Given the description of an element on the screen output the (x, y) to click on. 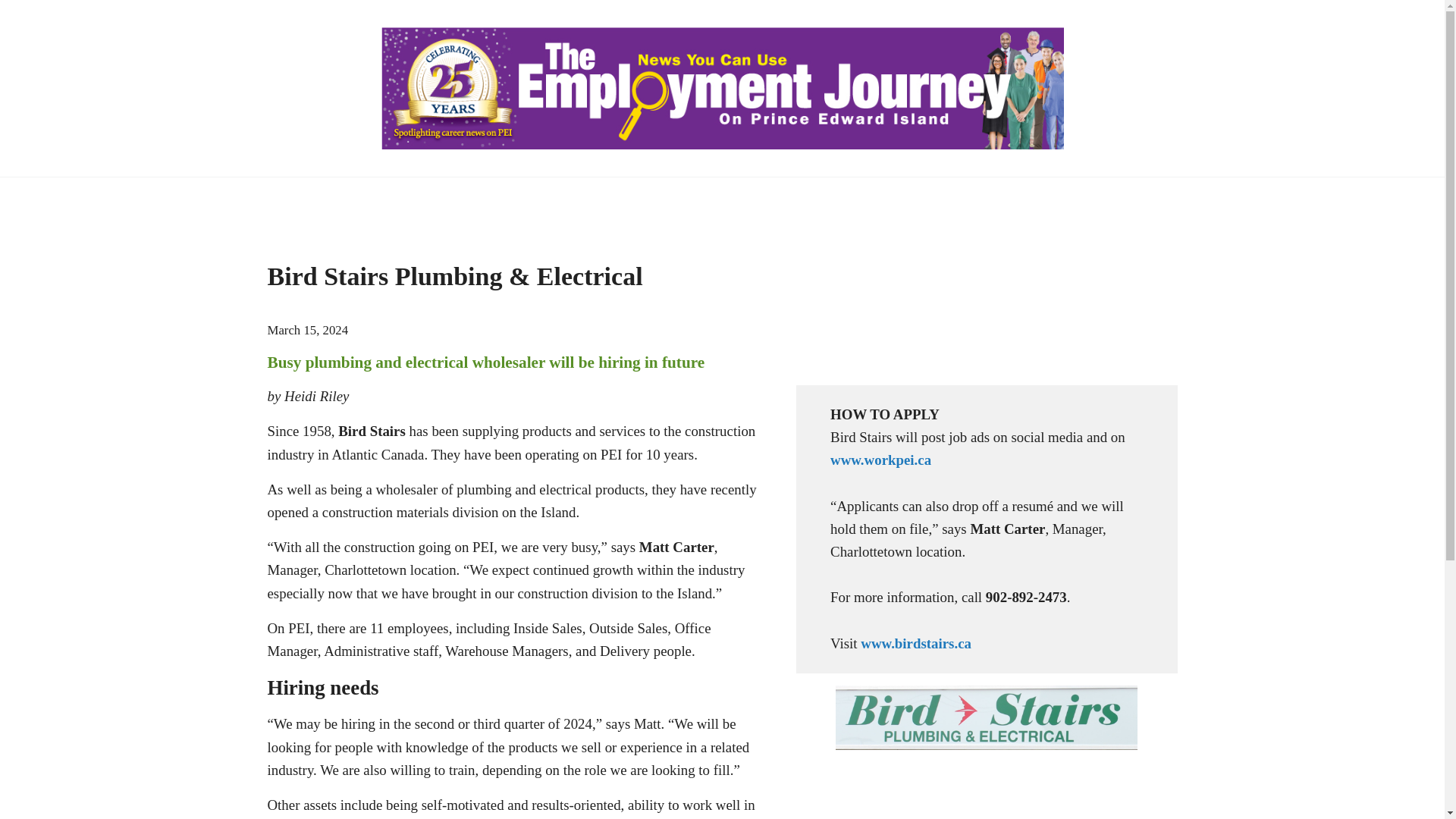
SELF-EMPLOYMENT (820, 198)
www.workpei.ca (880, 459)
www.birdstairs.ca (915, 643)
DAILY NEWS (1081, 198)
NEWCOMERS (964, 198)
NEWSPAPERS (332, 198)
JOBS (437, 198)
